Given the description of an element on the screen output the (x, y) to click on. 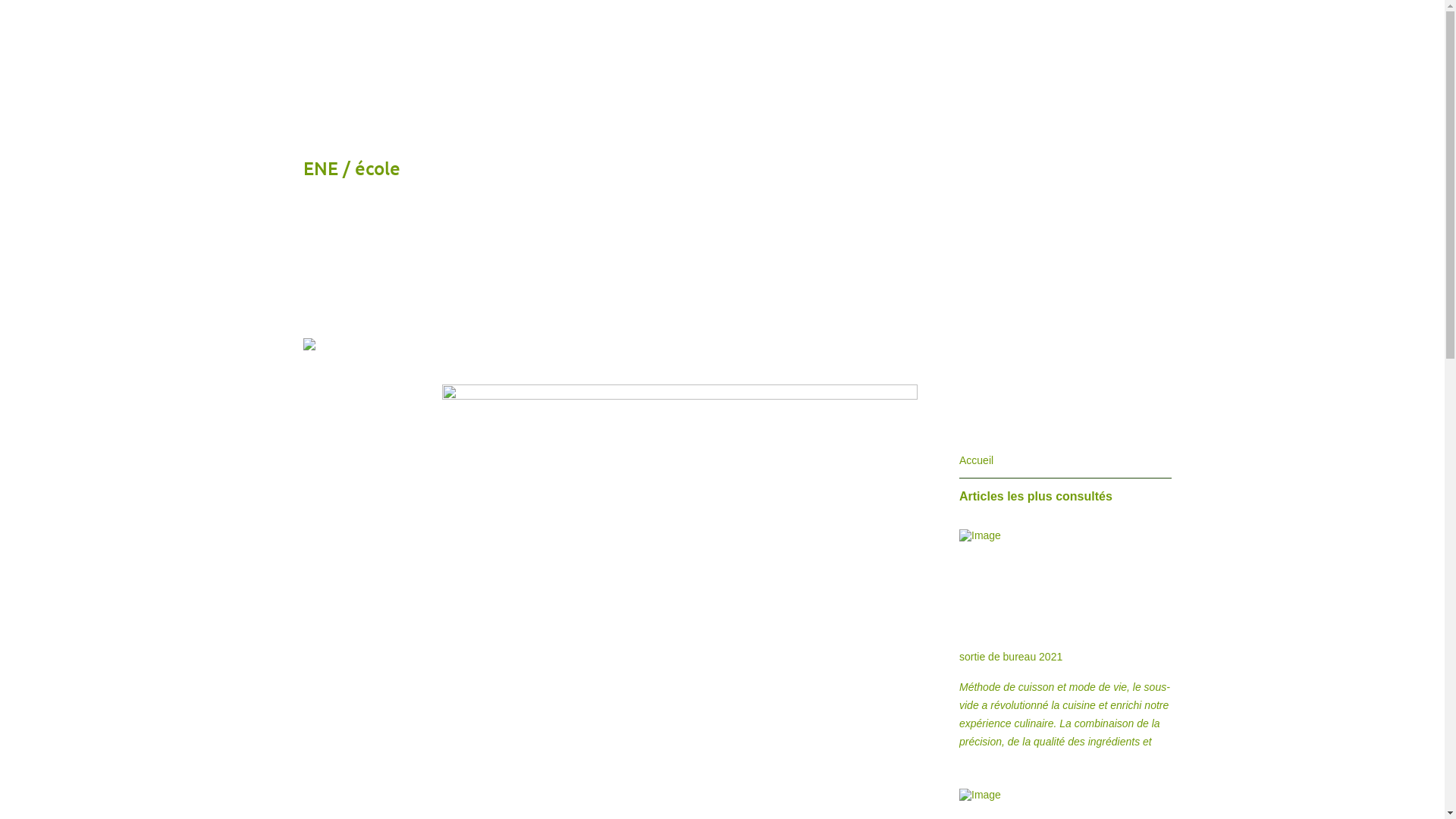
atelier d'architecture m Element type: text (480, 26)
sortie de bureau 2021 Element type: text (1010, 656)
Accueil Element type: text (976, 460)
